Given the description of an element on the screen output the (x, y) to click on. 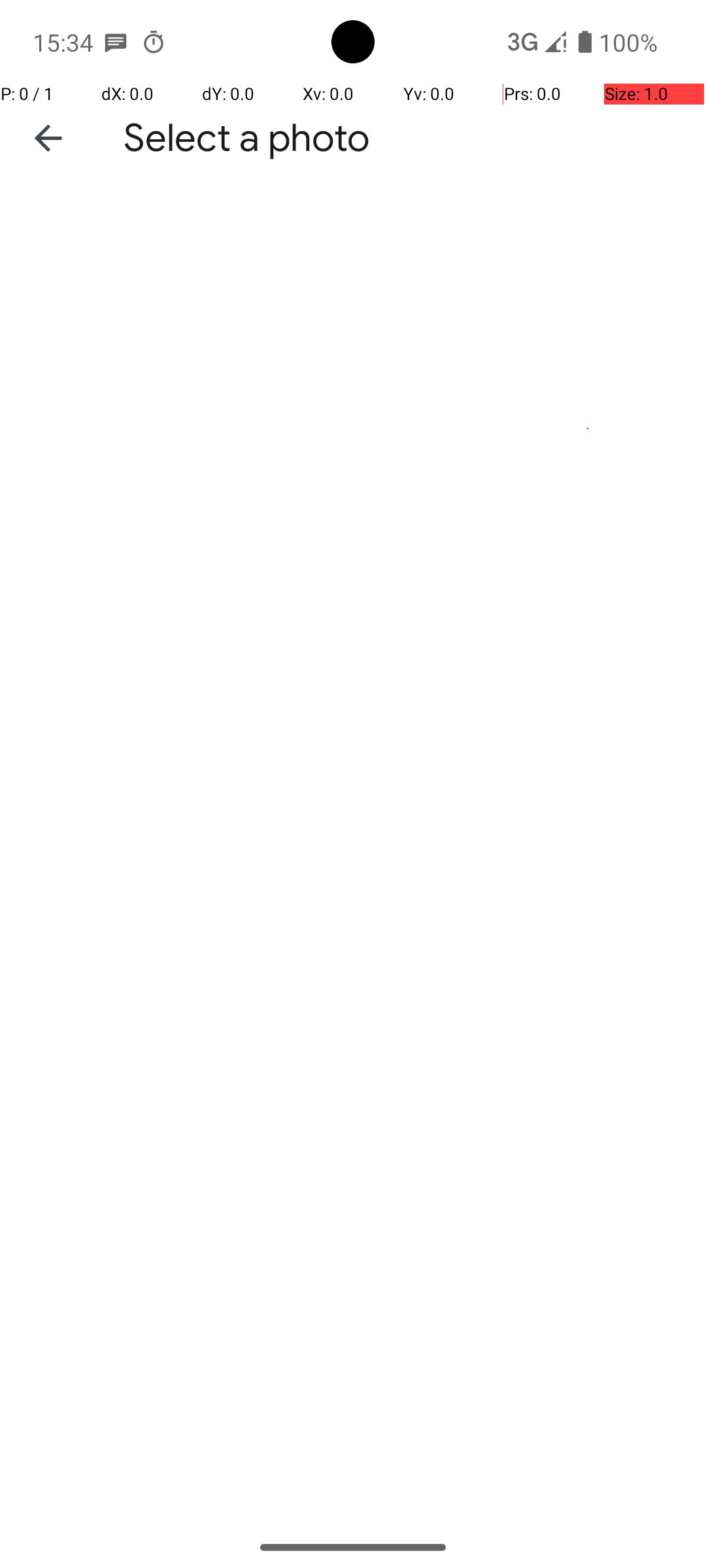
Select a photo Element type: android.widget.TextView (246, 138)
